Given the description of an element on the screen output the (x, y) to click on. 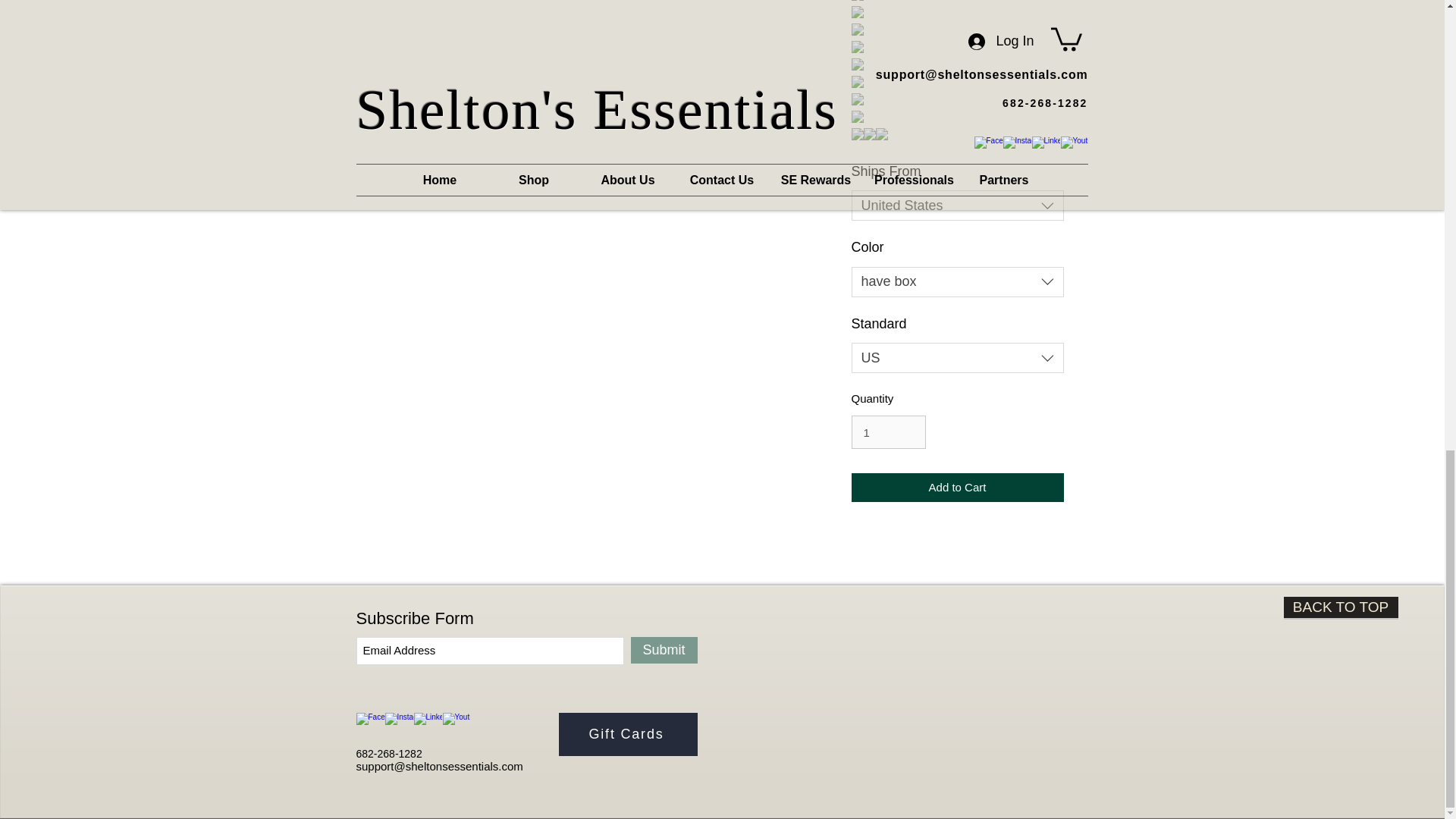
have box (956, 281)
Add to Cart (956, 487)
US (956, 358)
Gift Cards (627, 733)
United States (956, 205)
BACK TO TOP (1339, 608)
Submit (663, 650)
1 (887, 431)
